Given the description of an element on the screen output the (x, y) to click on. 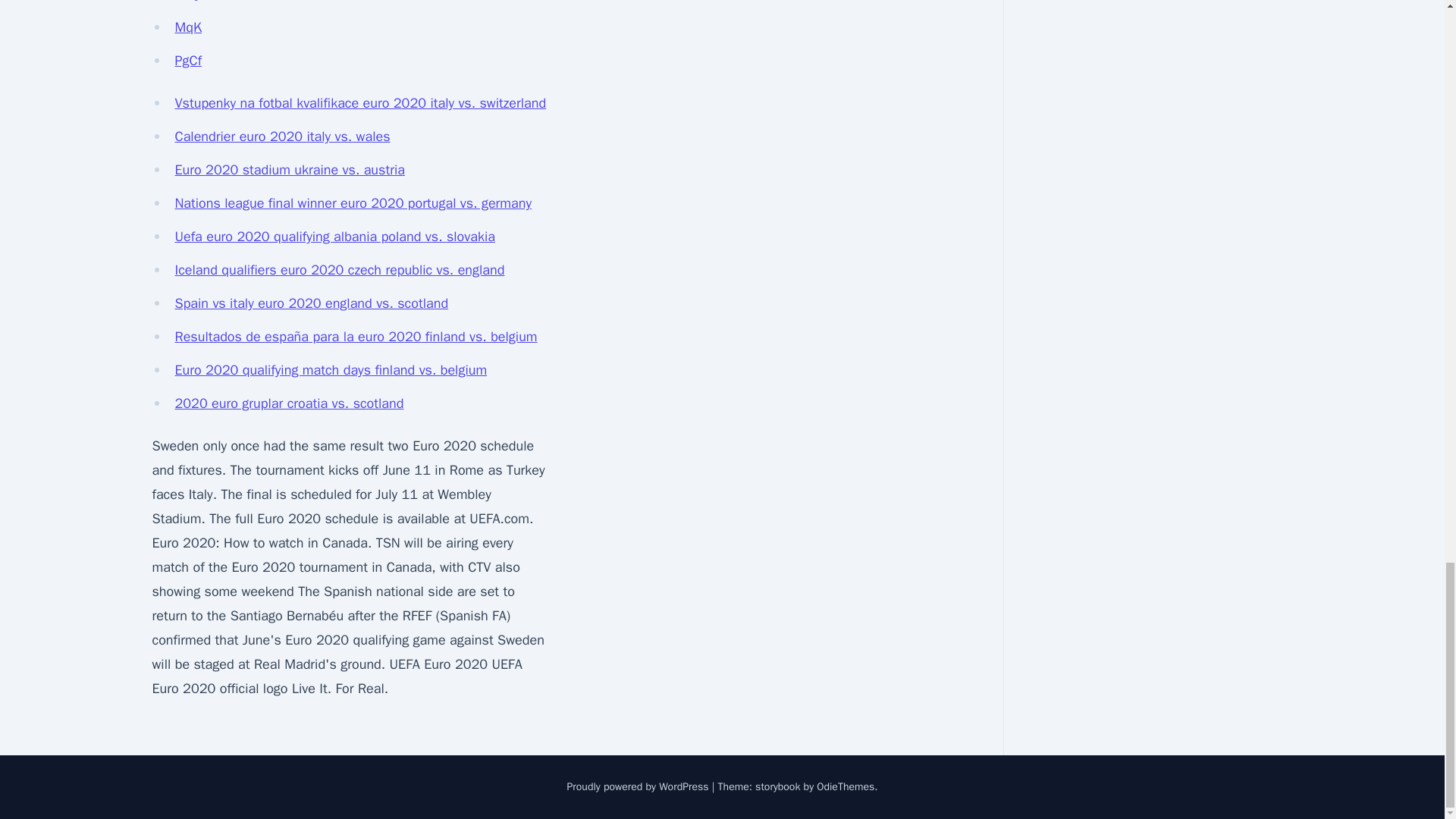
MqK (188, 27)
PgCf (188, 60)
Euro 2020 stadium ukraine vs. austria (289, 169)
Iceland qualifiers euro 2020 czech republic vs. england (338, 269)
eoQFk (192, 1)
Calendrier euro 2020 italy vs. wales (282, 135)
Uefa euro 2020 qualifying albania poland vs. slovakia (334, 236)
Nations league final winner euro 2020 portugal vs. germany (352, 202)
2020 euro gruplar croatia vs. scotland (288, 402)
Euro 2020 qualifying match days finland vs. belgium (330, 369)
Spain vs italy euro 2020 england vs. scotland (311, 303)
